Given the description of an element on the screen output the (x, y) to click on. 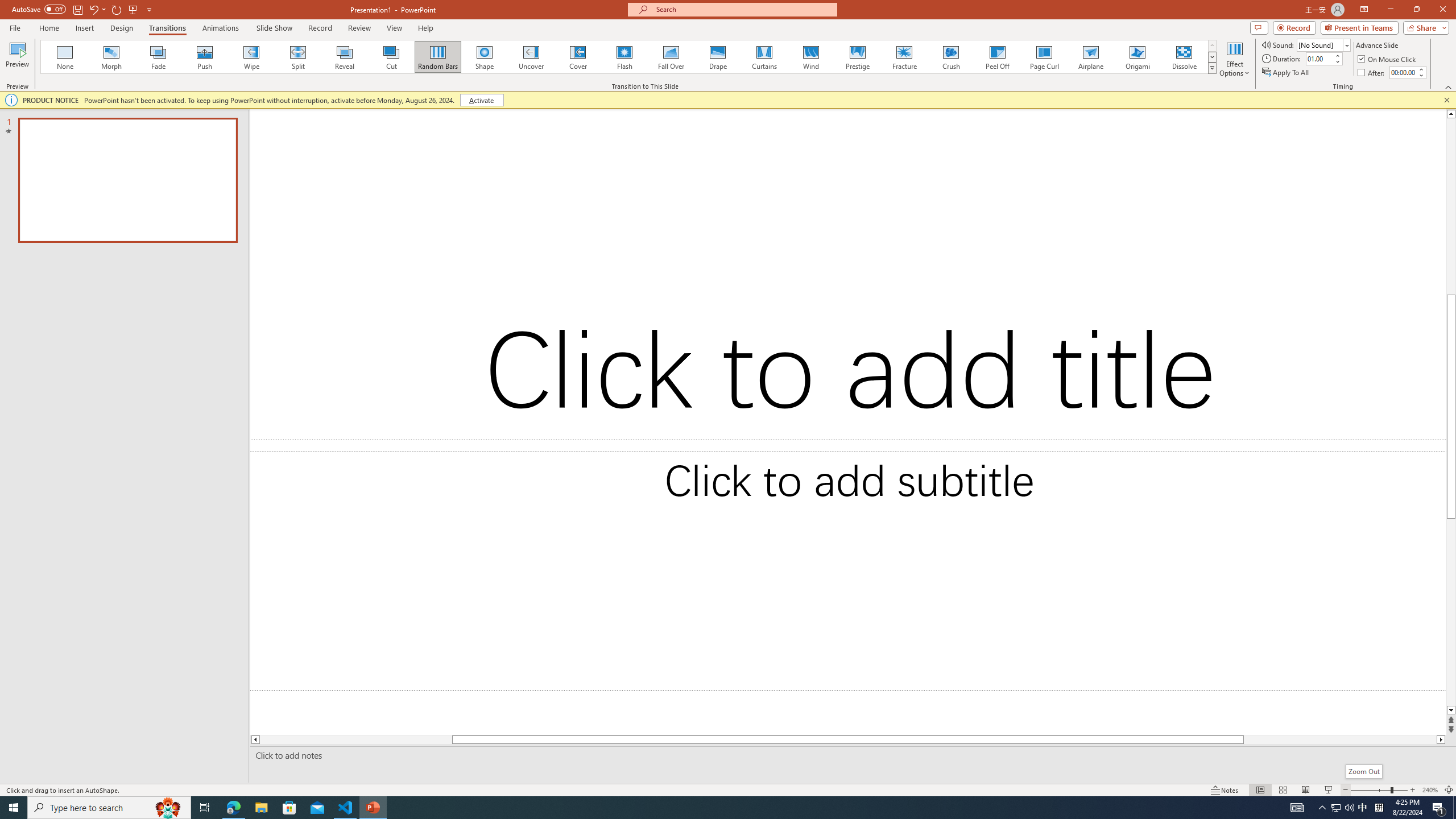
Sound (1324, 44)
Transition Effects (1212, 67)
Wind (810, 56)
Zoom 240% (1430, 790)
After (1372, 72)
AutomationID: AnimationTransitionGallery (628, 56)
Shape (484, 56)
